Given the description of an element on the screen output the (x, y) to click on. 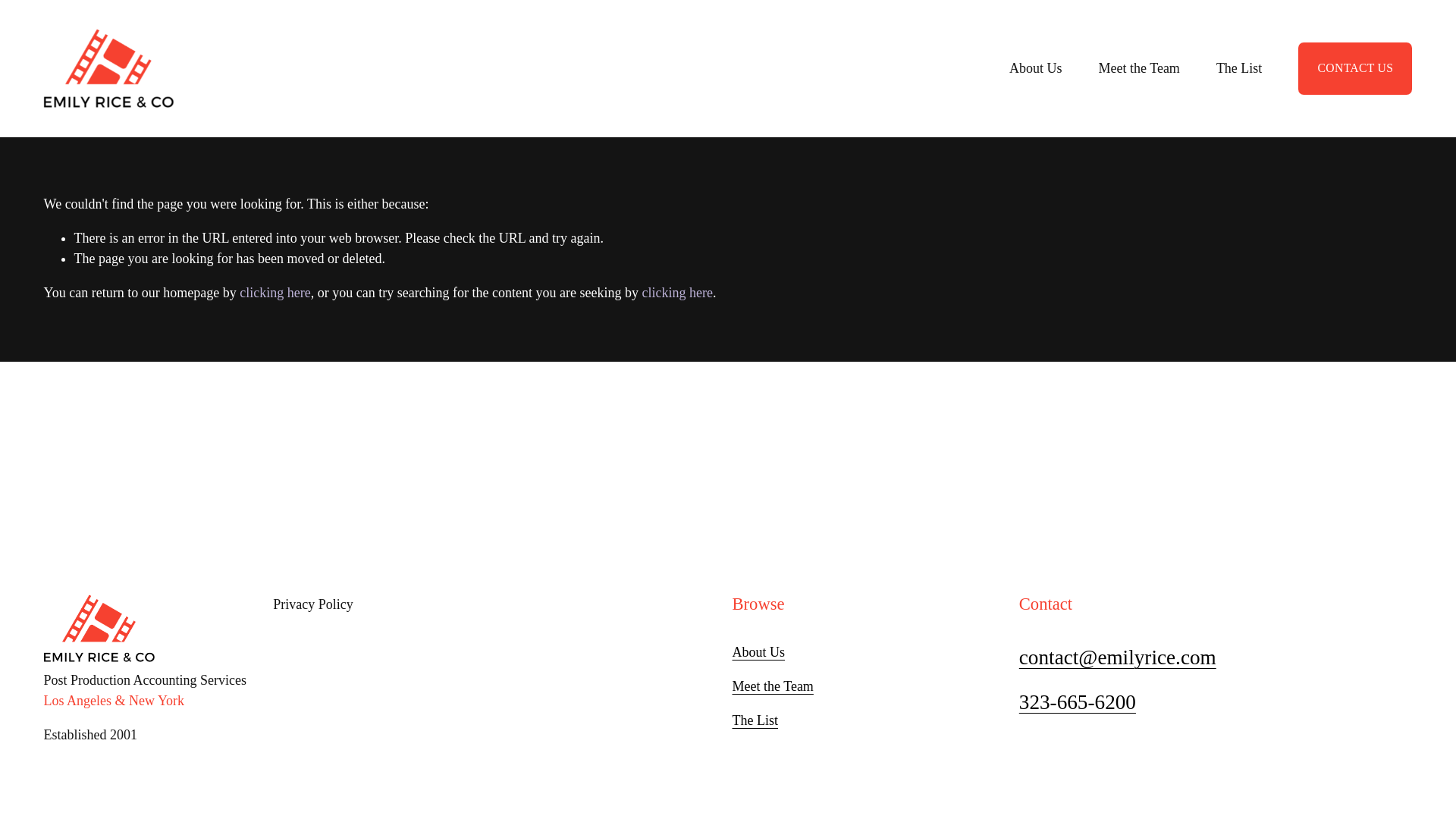
CONTACT US (1355, 68)
The List (1238, 68)
Meet the Team (772, 686)
The List (755, 720)
About Us (1035, 68)
Privacy Policy (498, 604)
clicking here (677, 292)
Meet the Team (1138, 68)
clicking here (275, 292)
About Us (759, 652)
